Given the description of an element on the screen output the (x, y) to click on. 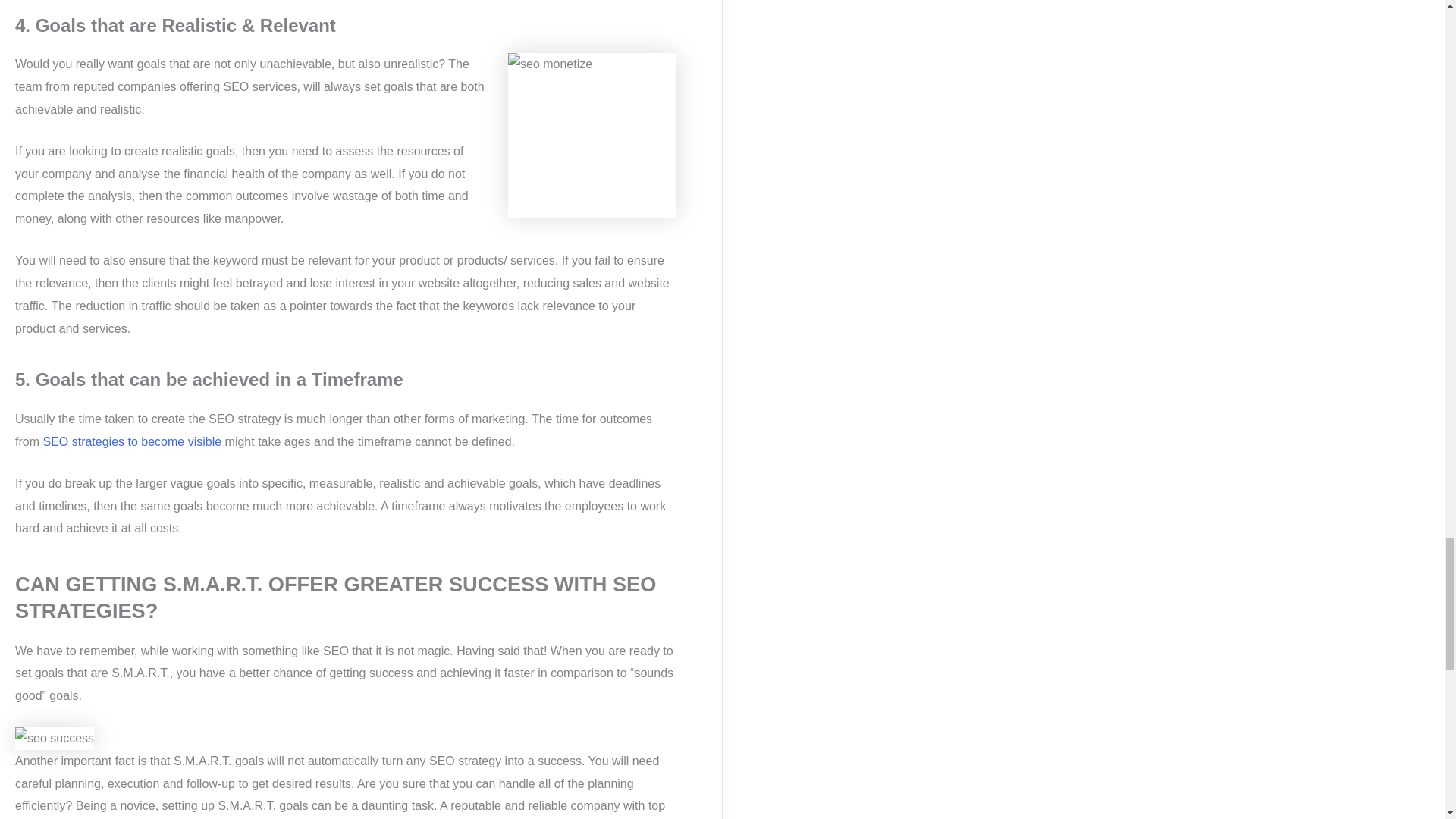
SEO strategies to become visible (131, 440)
